Given the description of an element on the screen output the (x, y) to click on. 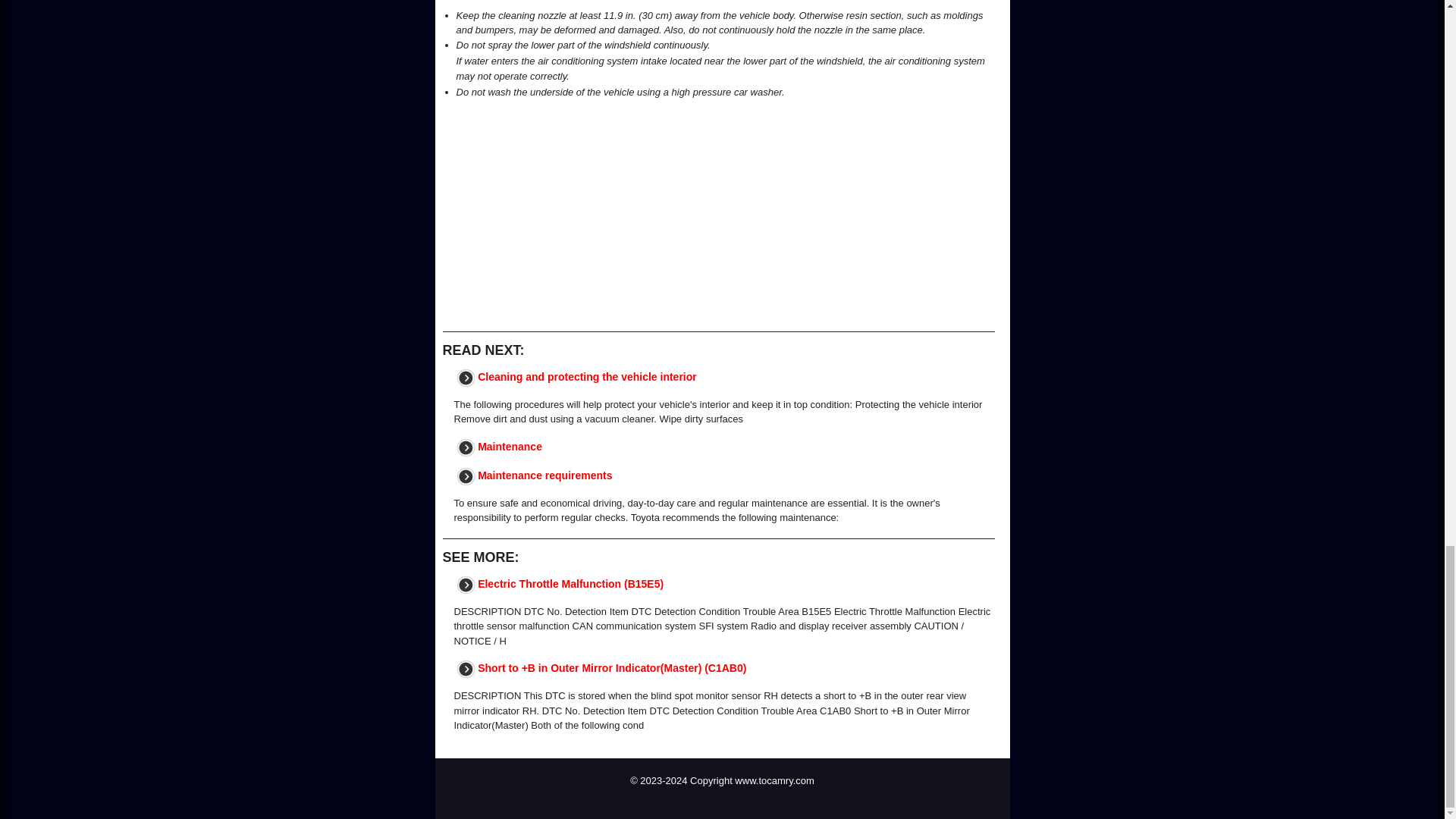
Cleaning and protecting the vehicle interior (587, 376)
Maintenance (509, 446)
Maintenance requirements (544, 474)
